Given the description of an element on the screen output the (x, y) to click on. 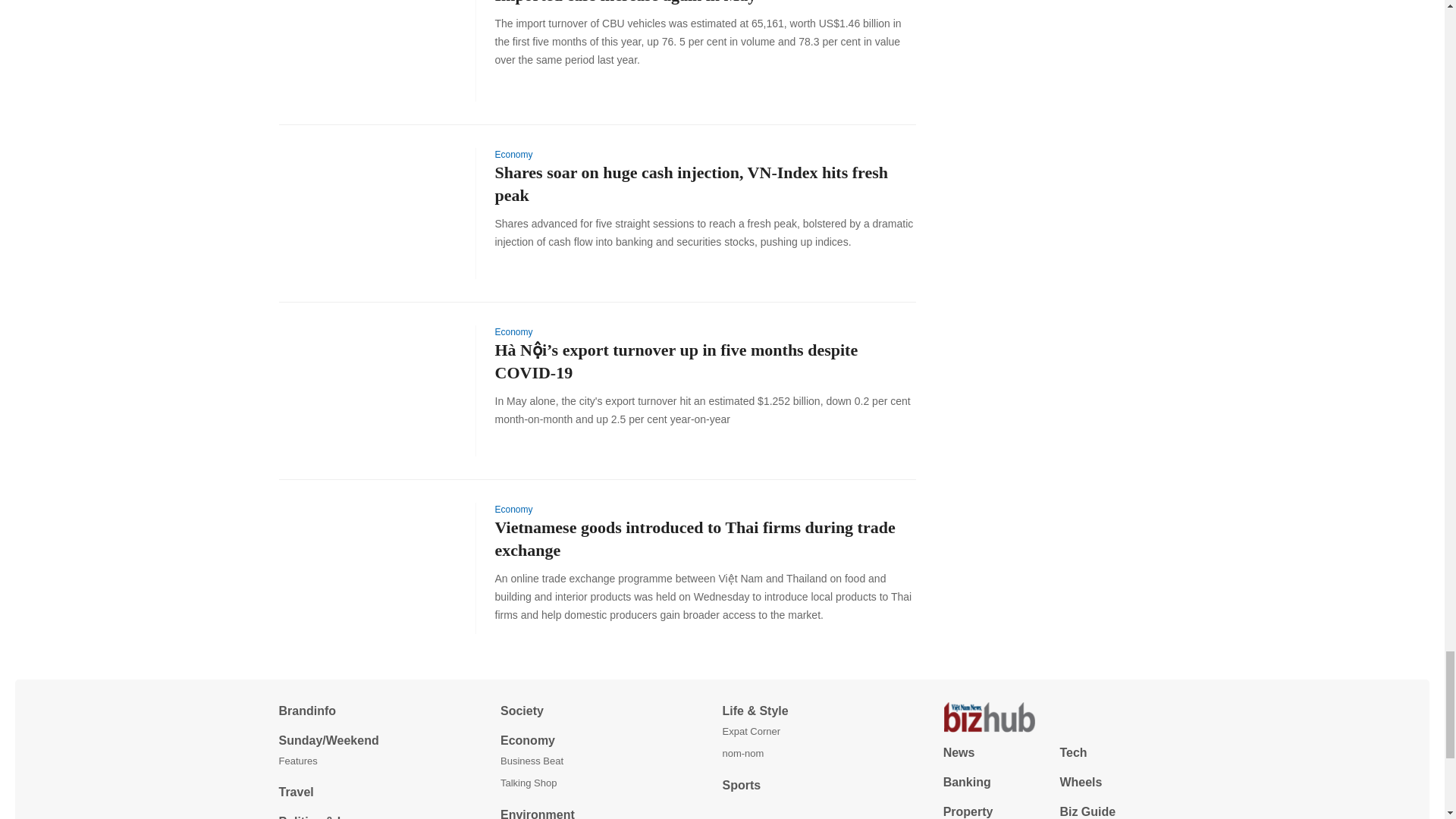
bizhub (1054, 716)
